Given the description of an element on the screen output the (x, y) to click on. 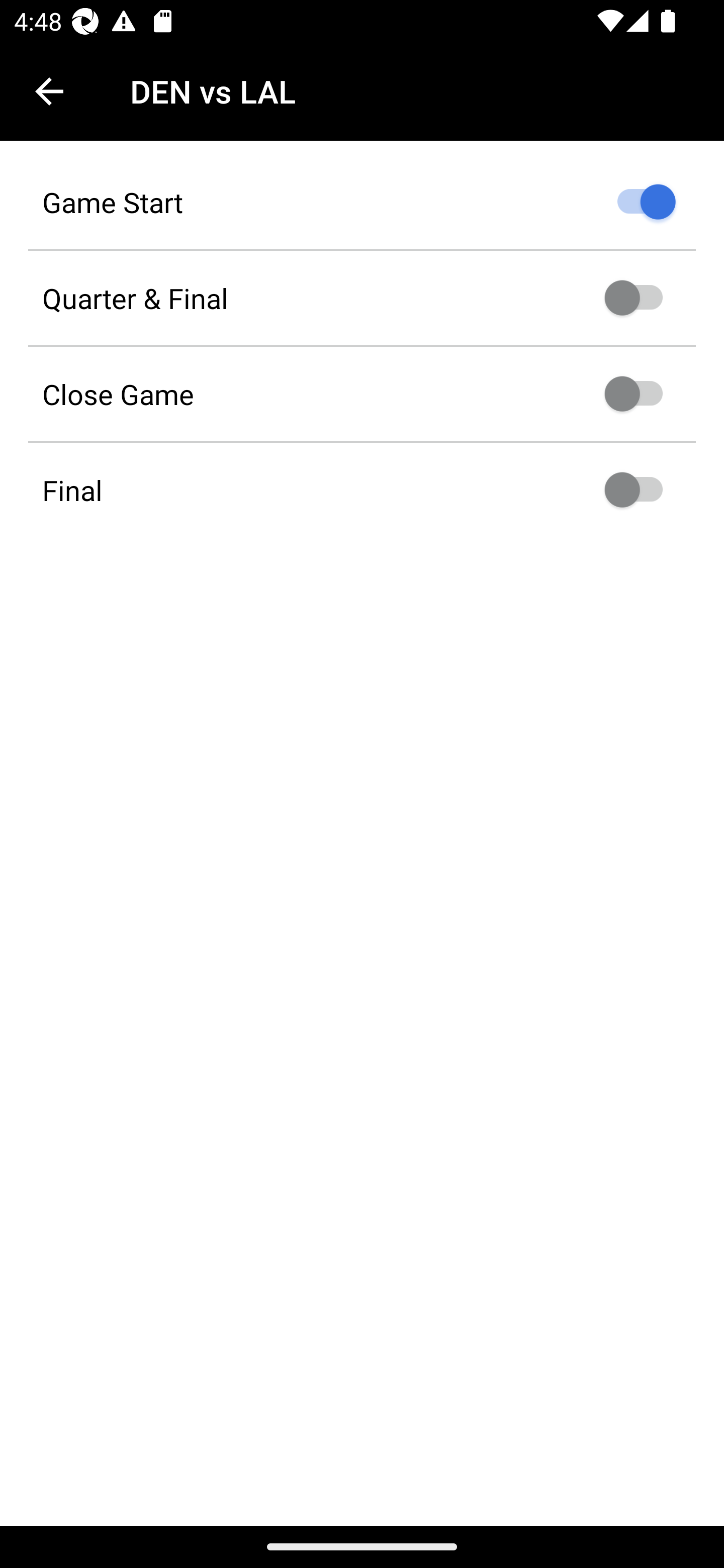
Navigate up (49, 91)
